Given the description of an element on the screen output the (x, y) to click on. 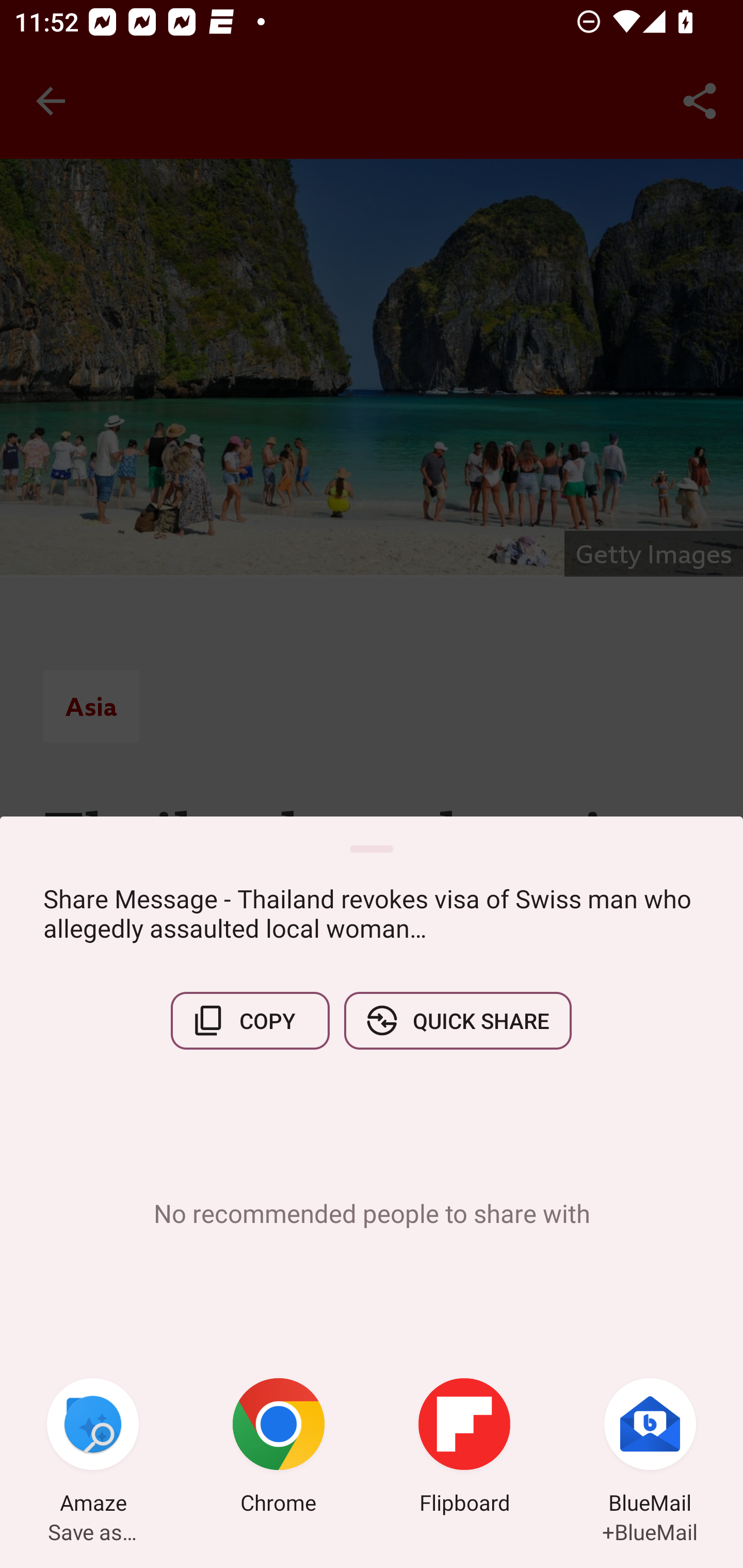
COPY (249, 1020)
QUICK SHARE (457, 1020)
Amaze Save as… (92, 1448)
Chrome (278, 1448)
Flipboard (464, 1448)
BlueMail +BlueMail (650, 1448)
